Given the description of an element on the screen output the (x, y) to click on. 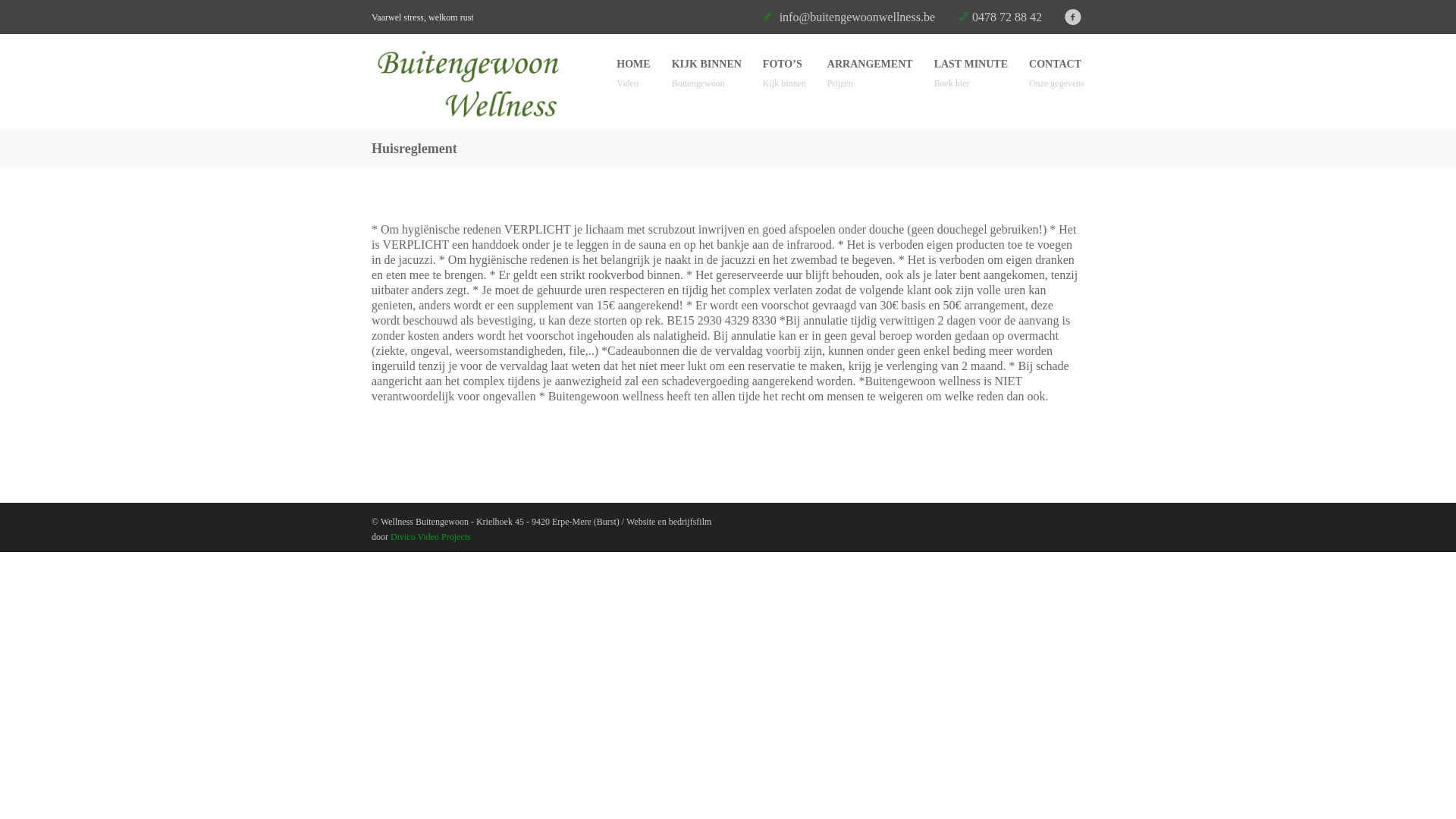
CONTACT
Onze gegevens Element type: text (1056, 81)
KIJK BINNEN
Buitengewoon Element type: text (706, 81)
Divico Video Projects Element type: text (430, 536)
info@buitengewoonwellness.be Element type: text (857, 16)
Home Element type: hover (485, 84)
ARRANGEMENT
Prijzen Element type: text (870, 81)
0478 72 88 42 Element type: text (1006, 16)
HOME
Video Element type: text (632, 81)
LAST MINUTE
Boek hier Element type: text (970, 81)
